Given the description of an element on the screen output the (x, y) to click on. 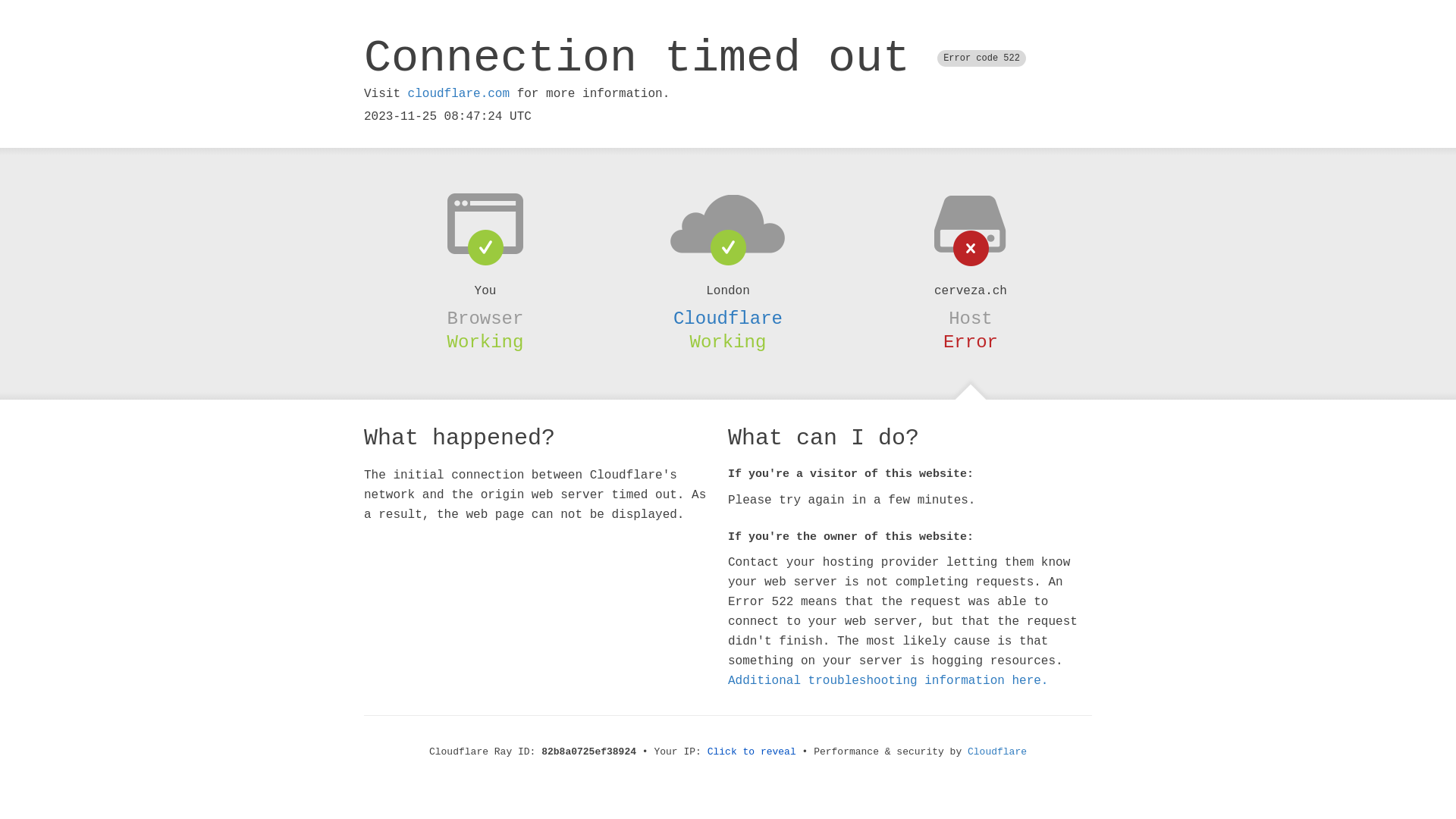
Cloudflare Element type: text (727, 318)
Additional troubleshooting information here. Element type: text (888, 680)
cloudflare.com Element type: text (458, 93)
Click to reveal Element type: text (751, 751)
Cloudflare Element type: text (996, 751)
